Given the description of an element on the screen output the (x, y) to click on. 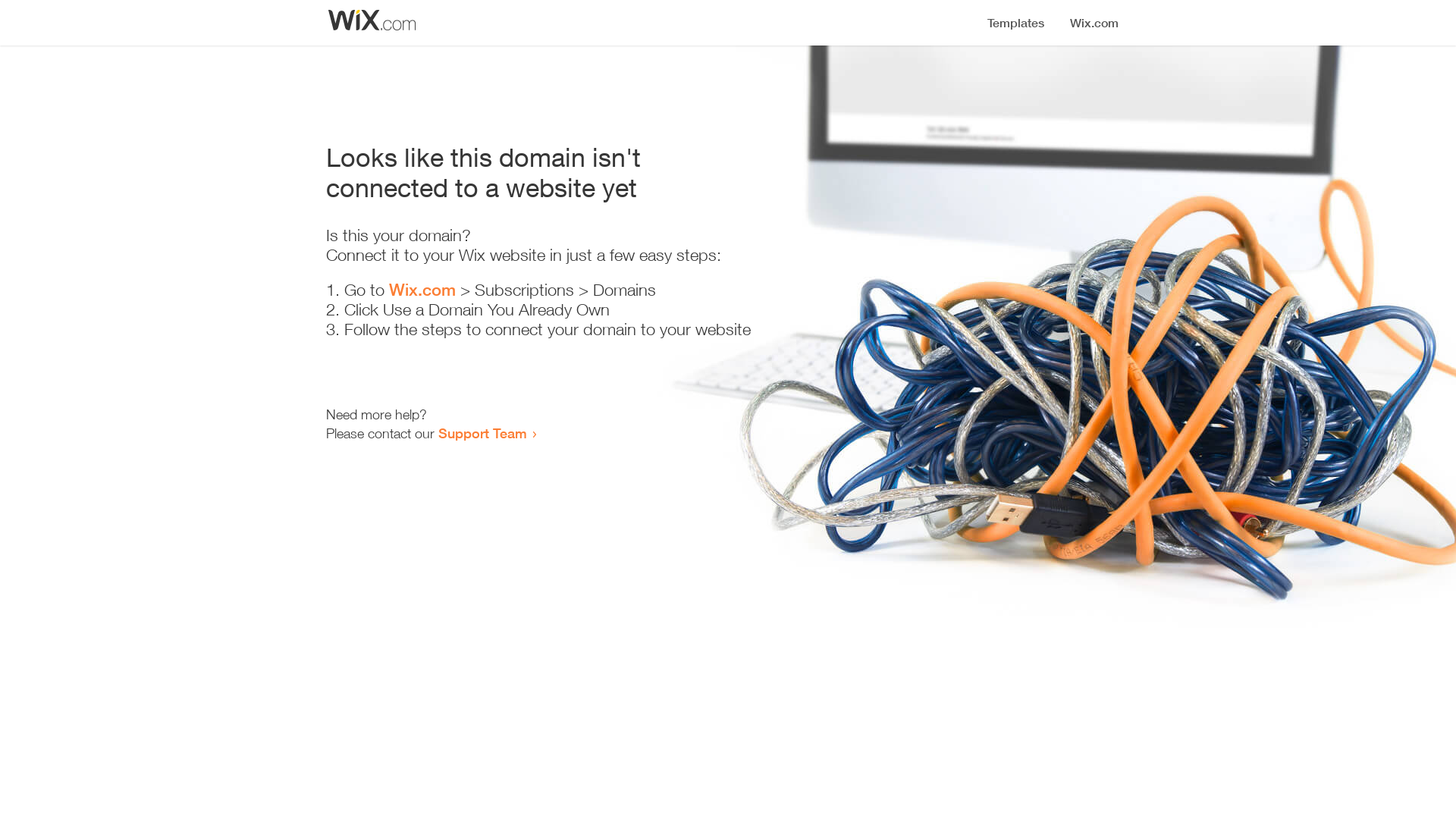
Support Team Element type: text (482, 432)
Wix.com Element type: text (422, 289)
